Given the description of an element on the screen output the (x, y) to click on. 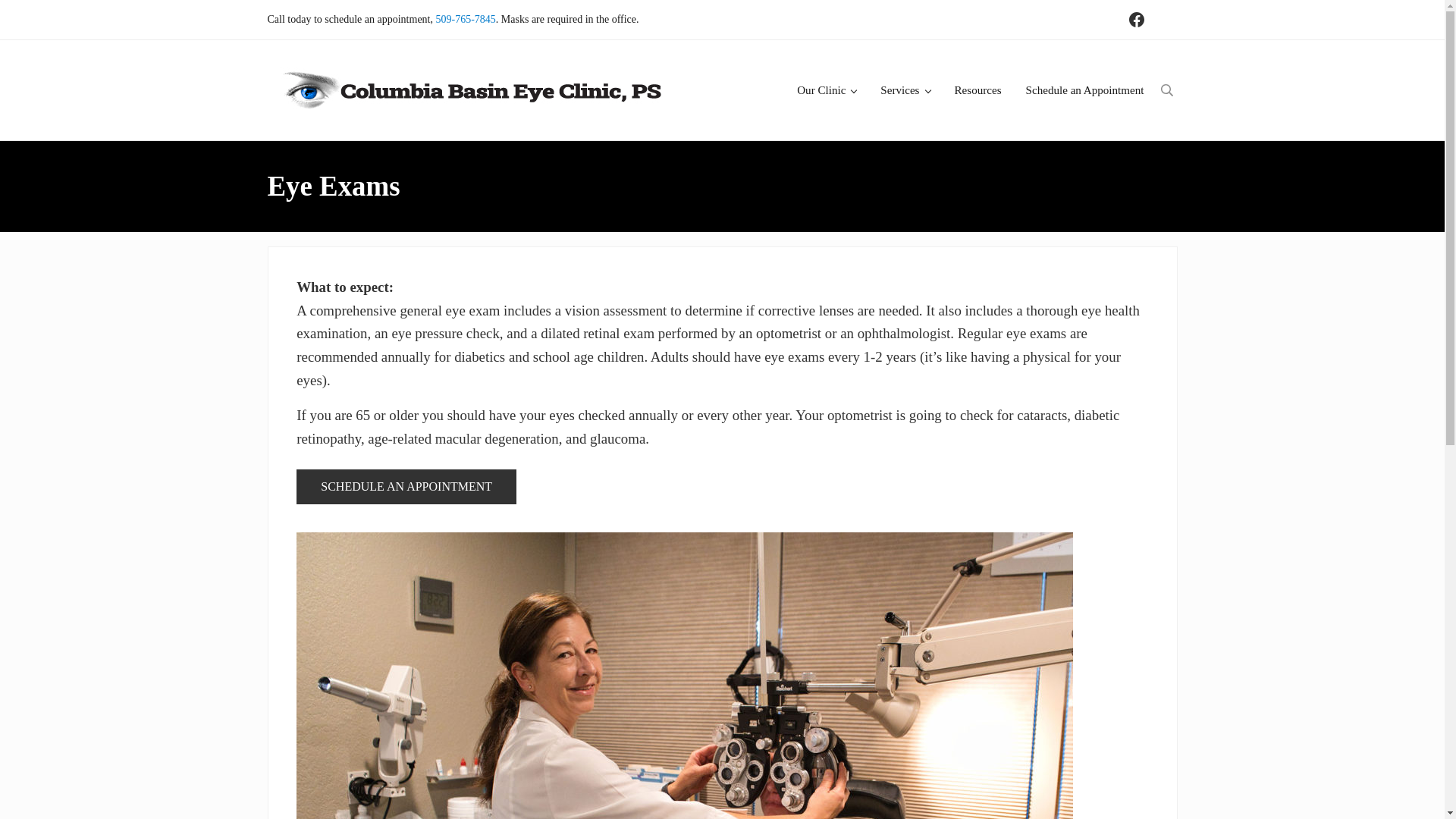
Services (904, 89)
Resources (977, 89)
Schedule an Appointment (1084, 89)
Facebook (1136, 19)
Our Clinic (825, 89)
509-765-7845 (465, 19)
